Given the description of an element on the screen output the (x, y) to click on. 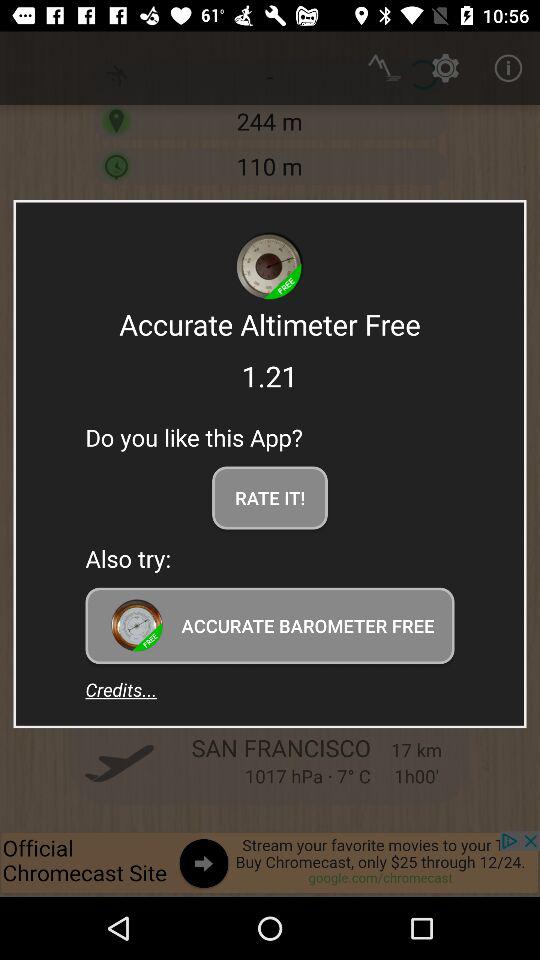
press item at the bottom left corner (121, 689)
